Given the description of an element on the screen output the (x, y) to click on. 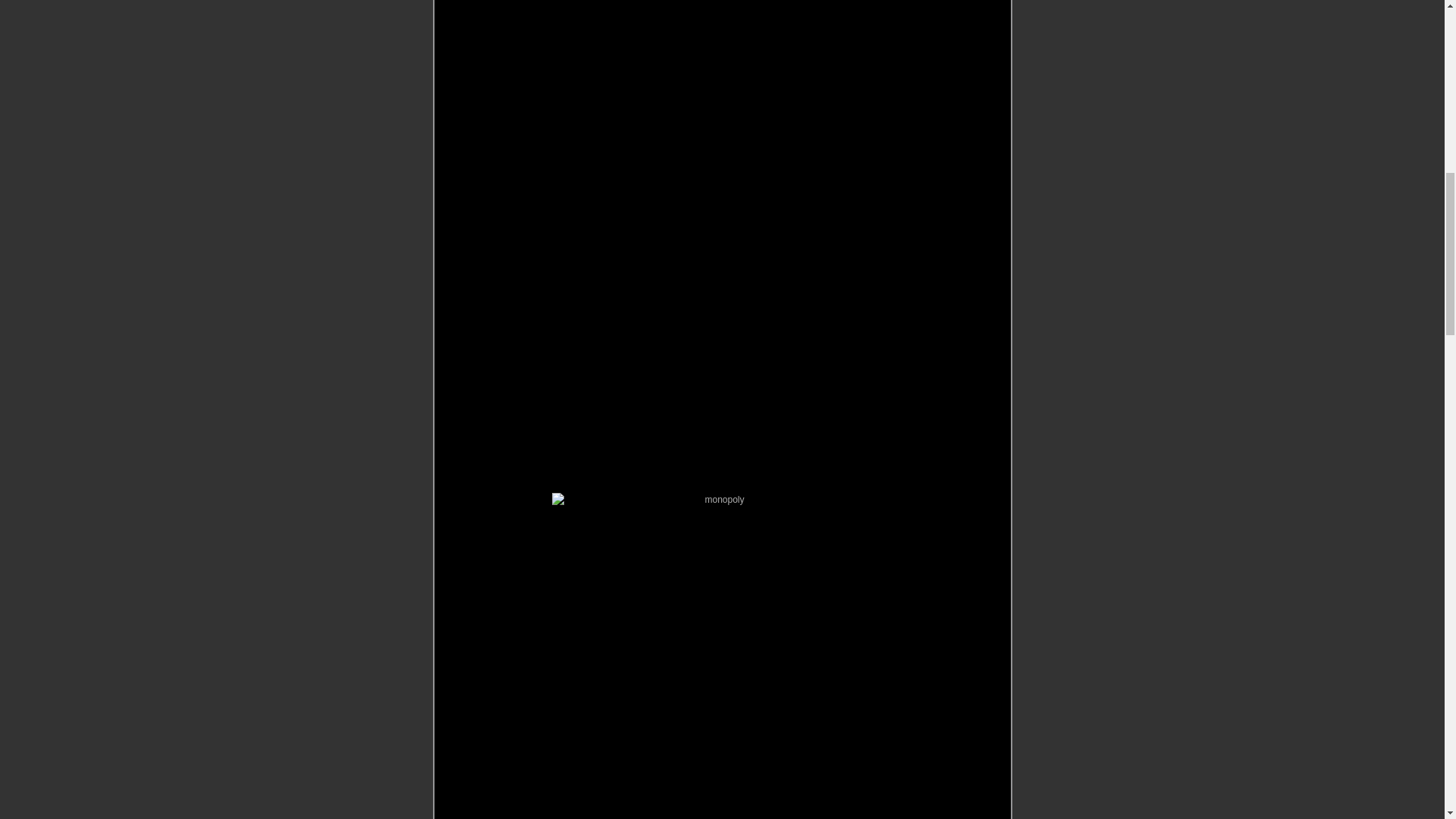
monopoly (718, 645)
